Given the description of an element on the screen output the (x, y) to click on. 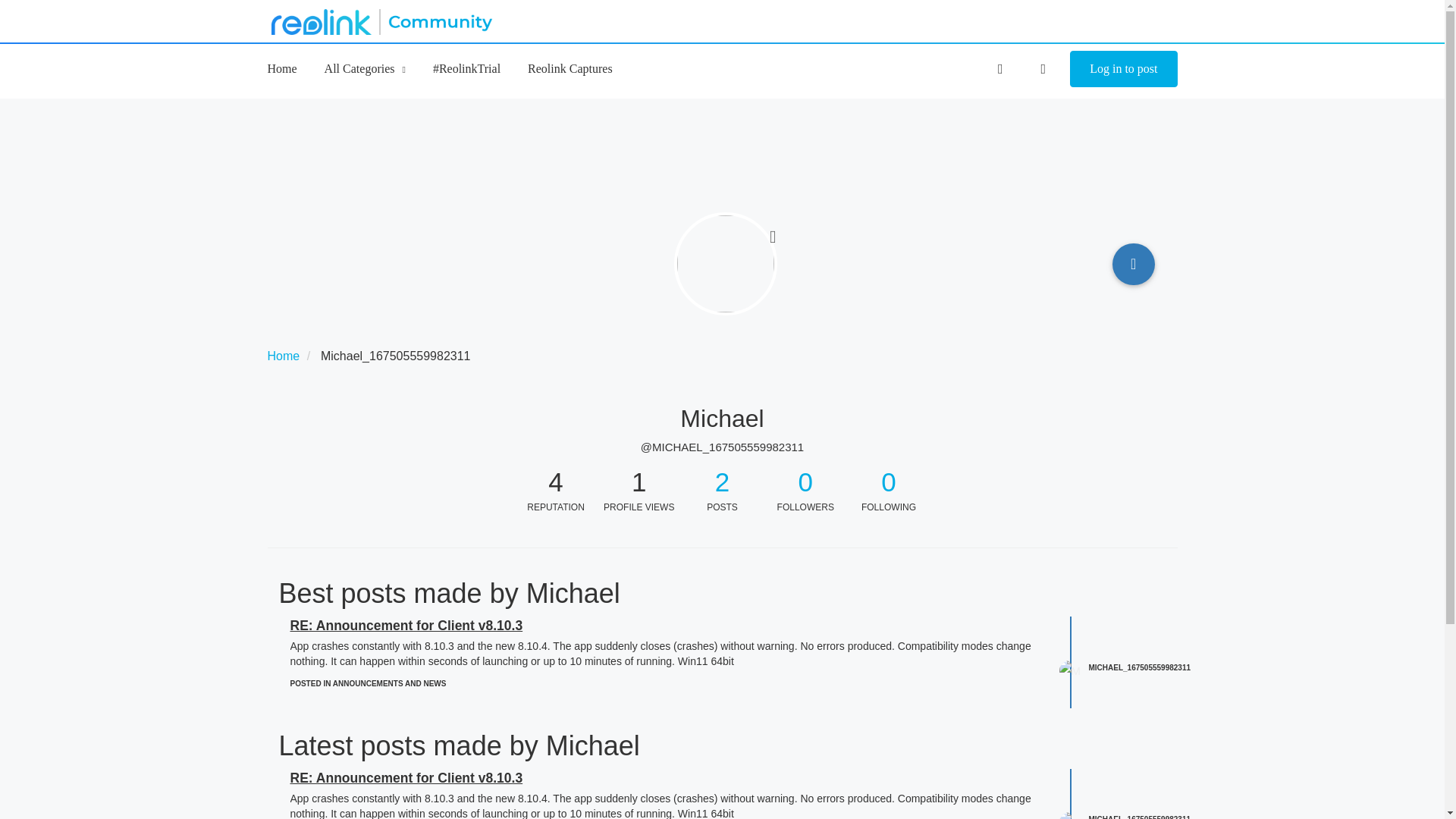
All Categories (365, 68)
1 (639, 481)
Home (282, 355)
Log in to post (1123, 68)
Reolink Captures (569, 68)
Home (281, 68)
4 (556, 481)
